Given the description of an element on the screen output the (x, y) to click on. 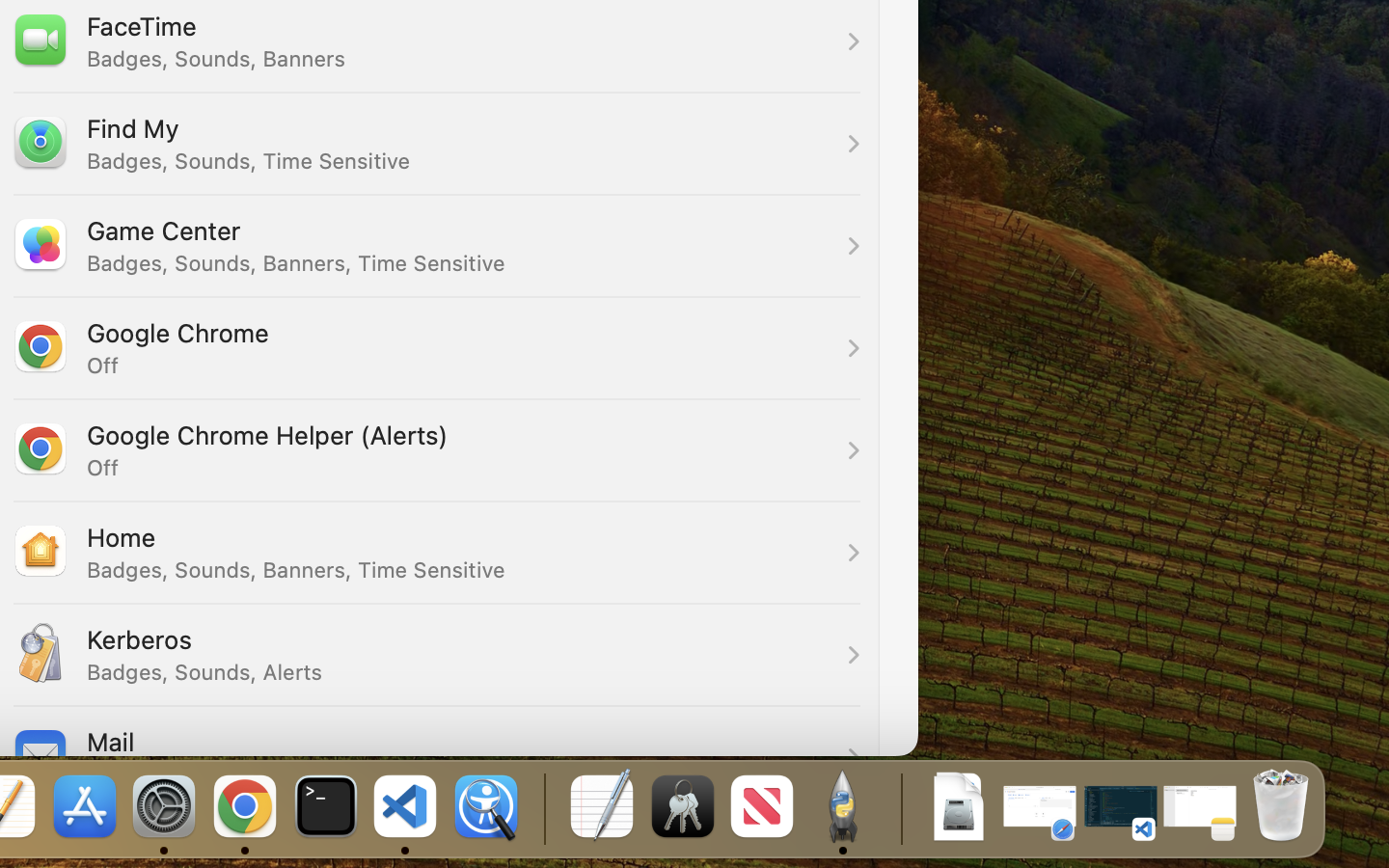
0.4285714328289032 Element type: AXDockItem (541, 807)
